Given the description of an element on the screen output the (x, y) to click on. 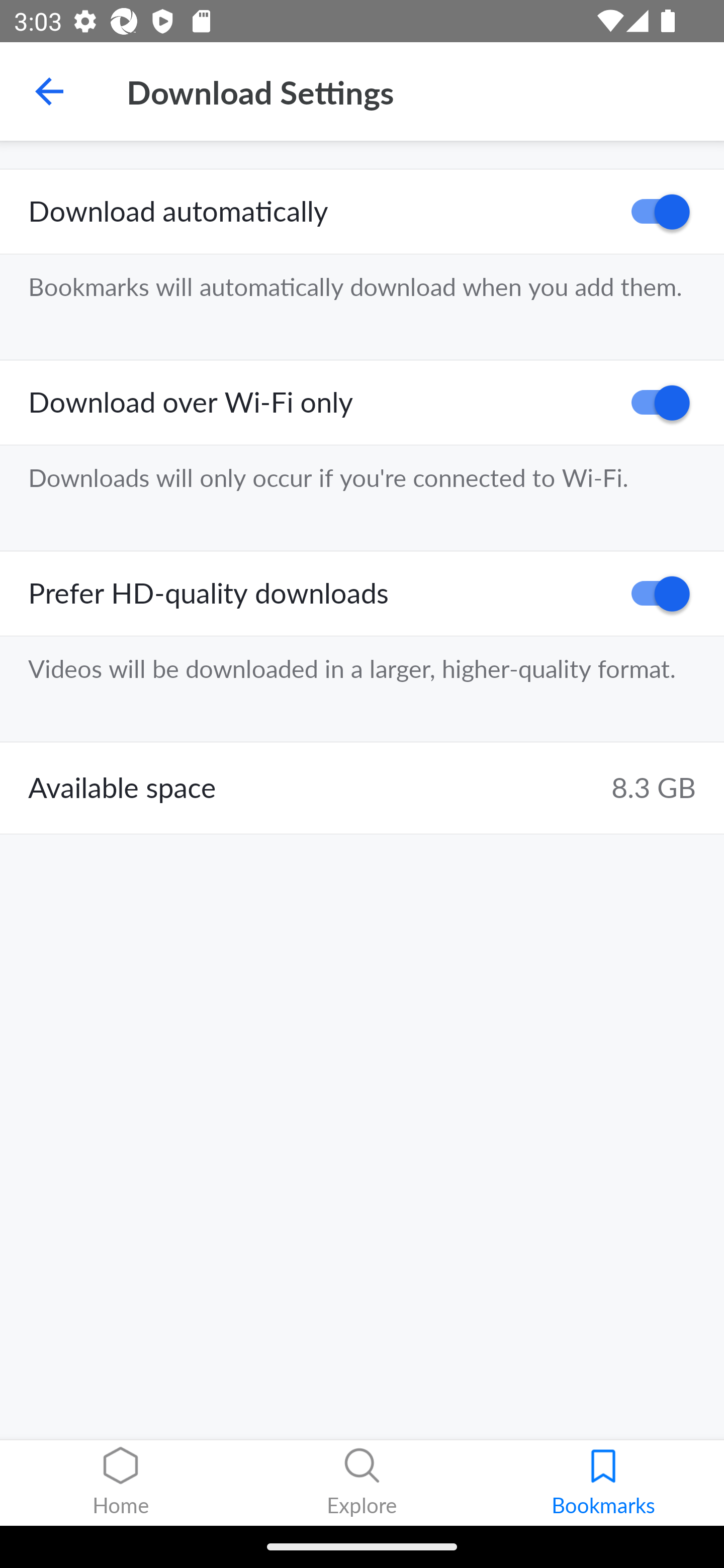
Navigate up (49, 91)
ON (653, 211)
ON (653, 402)
ON (653, 593)
Home (120, 1482)
Explore (361, 1482)
Bookmarks (603, 1482)
